Given the description of an element on the screen output the (x, y) to click on. 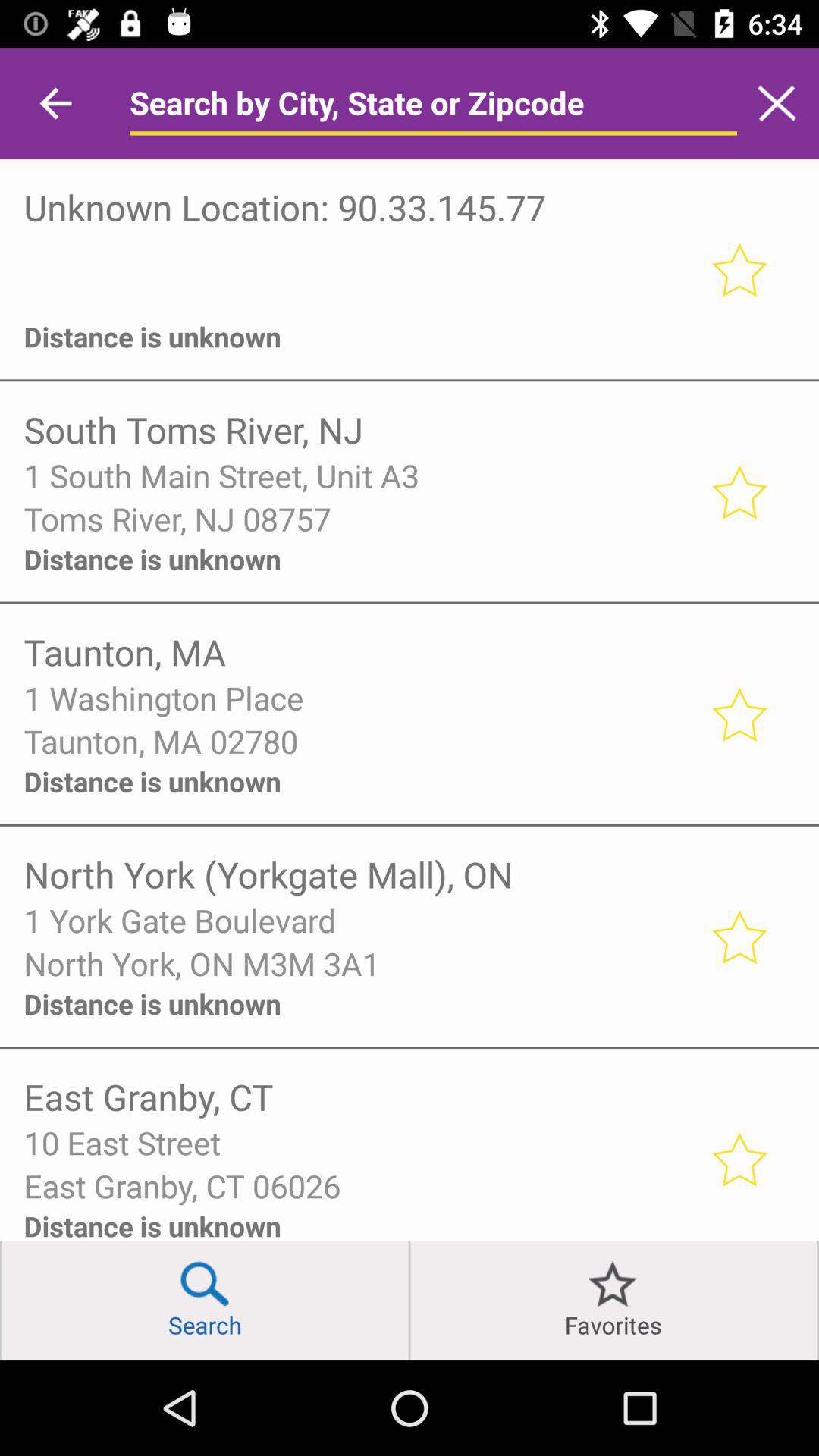
mark as favorite (738, 936)
